Given the description of an element on the screen output the (x, y) to click on. 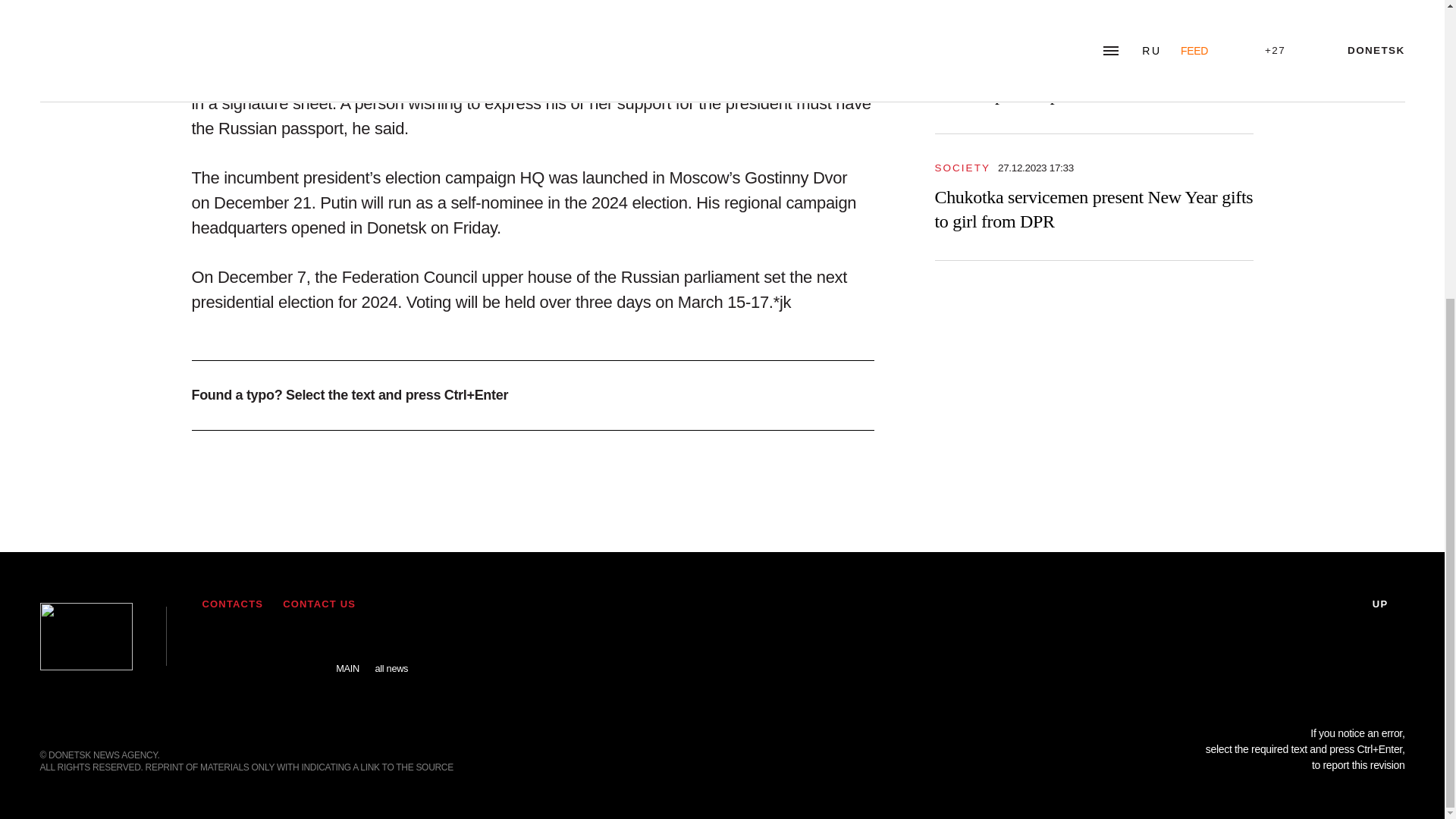
UP (1389, 604)
UP (1389, 604)
SOCIETY (962, 167)
Odnoklassniki (304, 644)
RSS (217, 644)
CONTACTS (232, 603)
Chukotka servicemen present New Year gifts to girl from DPR (1093, 208)
all news (390, 656)
VKontakte (262, 644)
DEFENCE (964, 40)
